Given the description of an element on the screen output the (x, y) to click on. 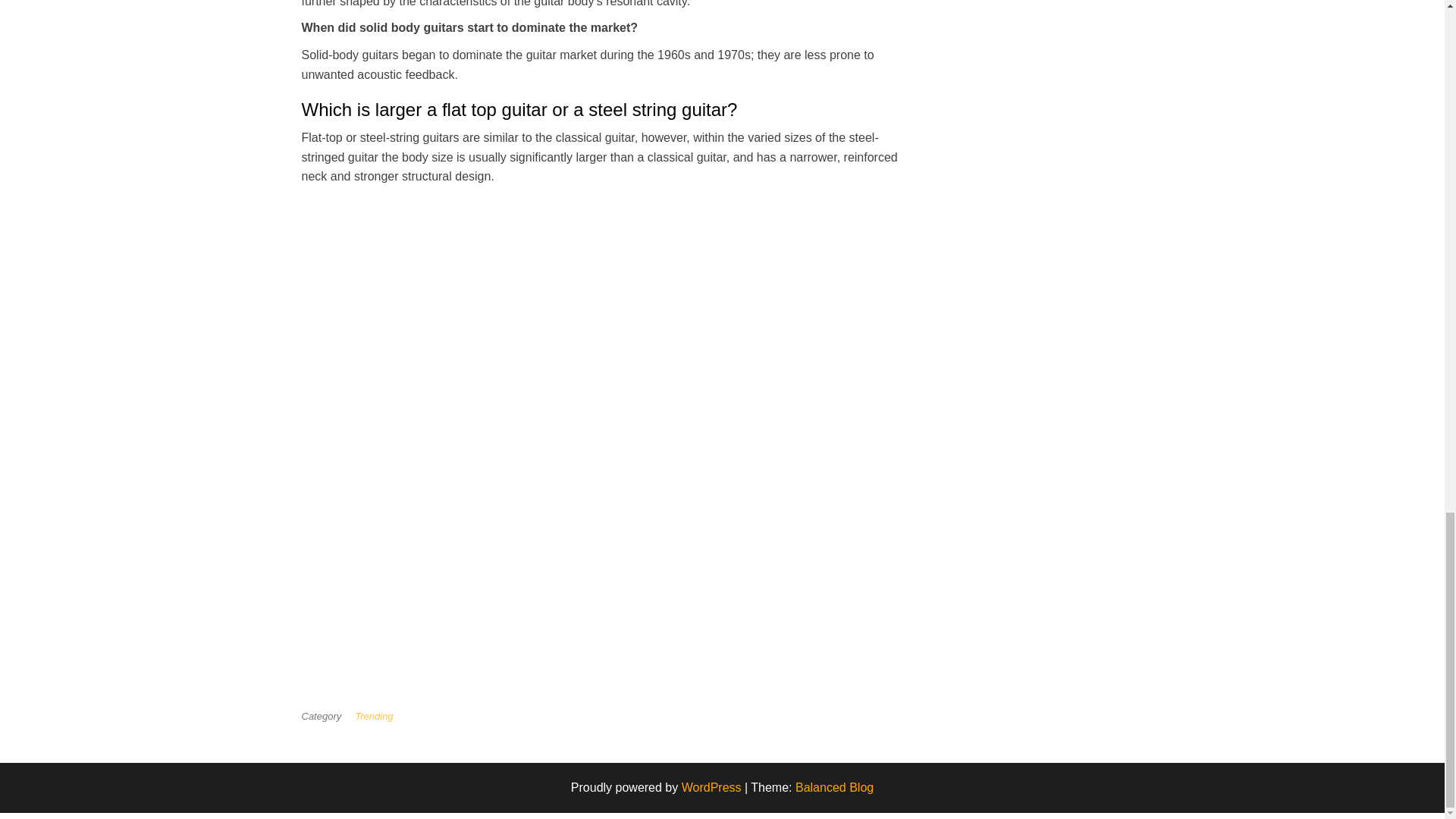
Balanced Blog (833, 787)
WordPress (711, 787)
Trending (376, 715)
